Given the description of an element on the screen output the (x, y) to click on. 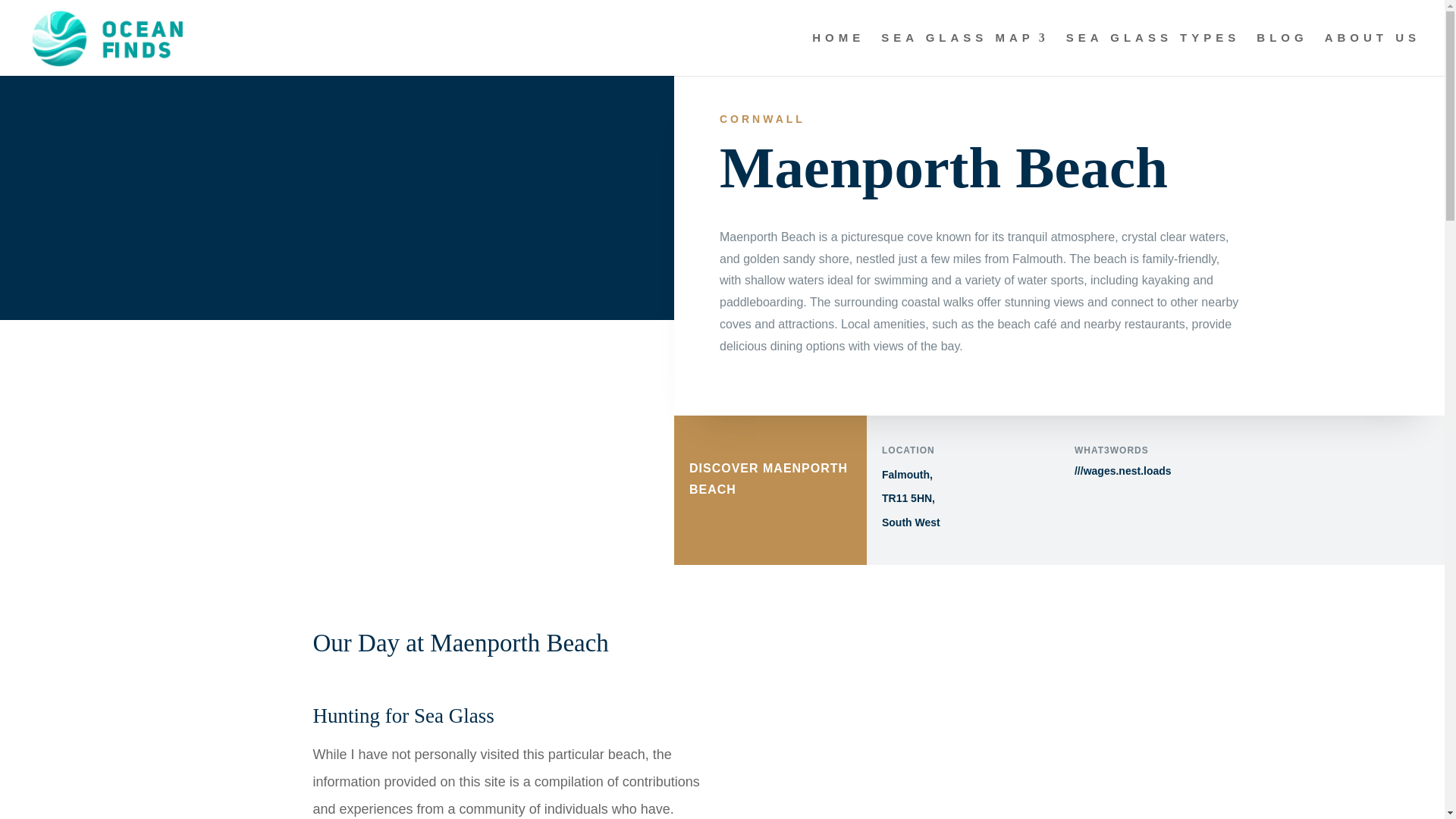
SEA GLASS MAP (964, 54)
ABOUT US (1372, 54)
DISCOVER MAENPORTH BEACH (770, 458)
HOME (838, 54)
SEA GLASS TYPES (1152, 54)
BLOG (1281, 54)
